Given the description of an element on the screen output the (x, y) to click on. 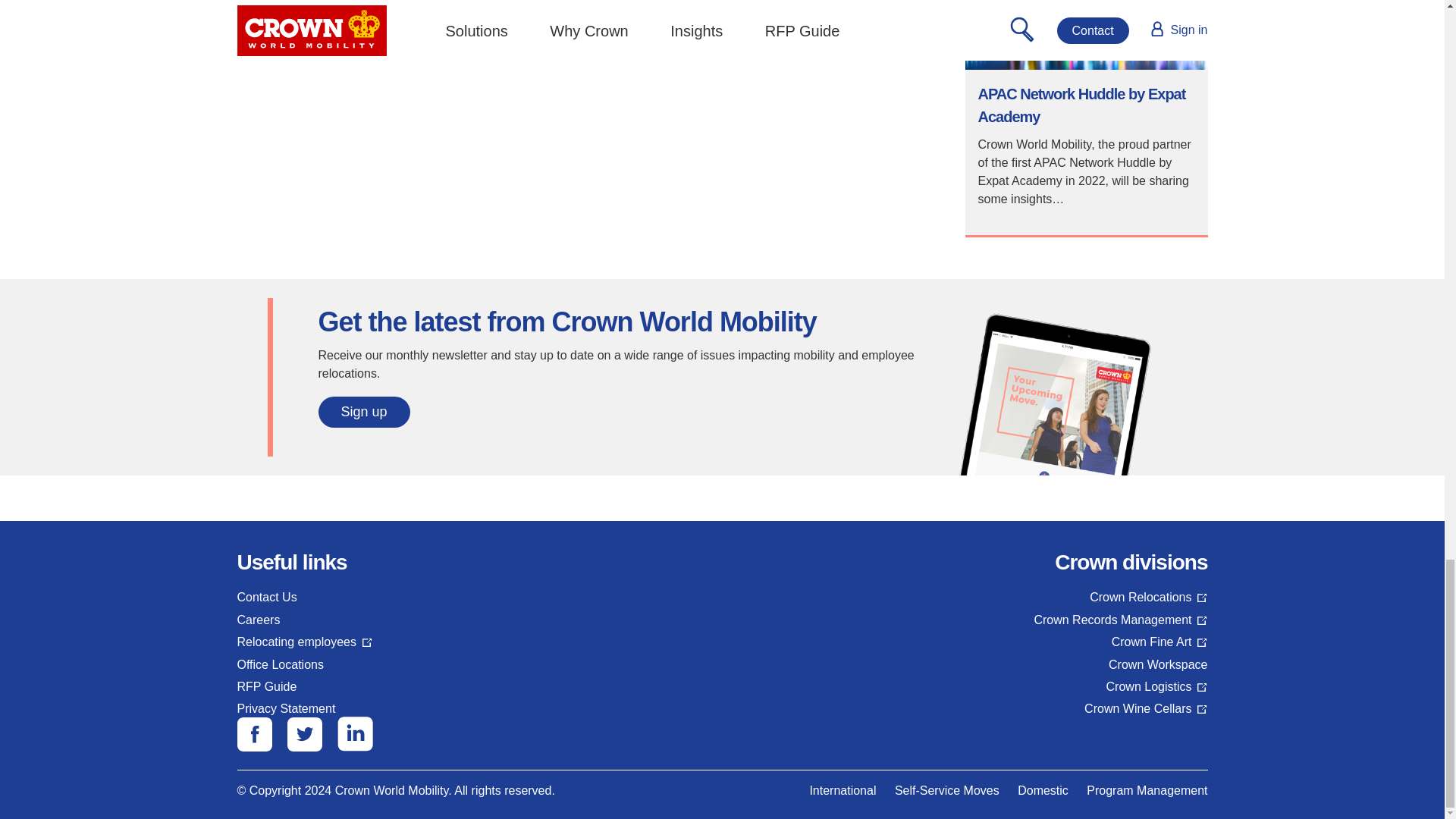
Facebook Created with Sketch. (252, 734)
Twitter Created with Sketch. (303, 734)
Linkedin Created with Sketch. (354, 733)
